Given the description of an element on the screen output the (x, y) to click on. 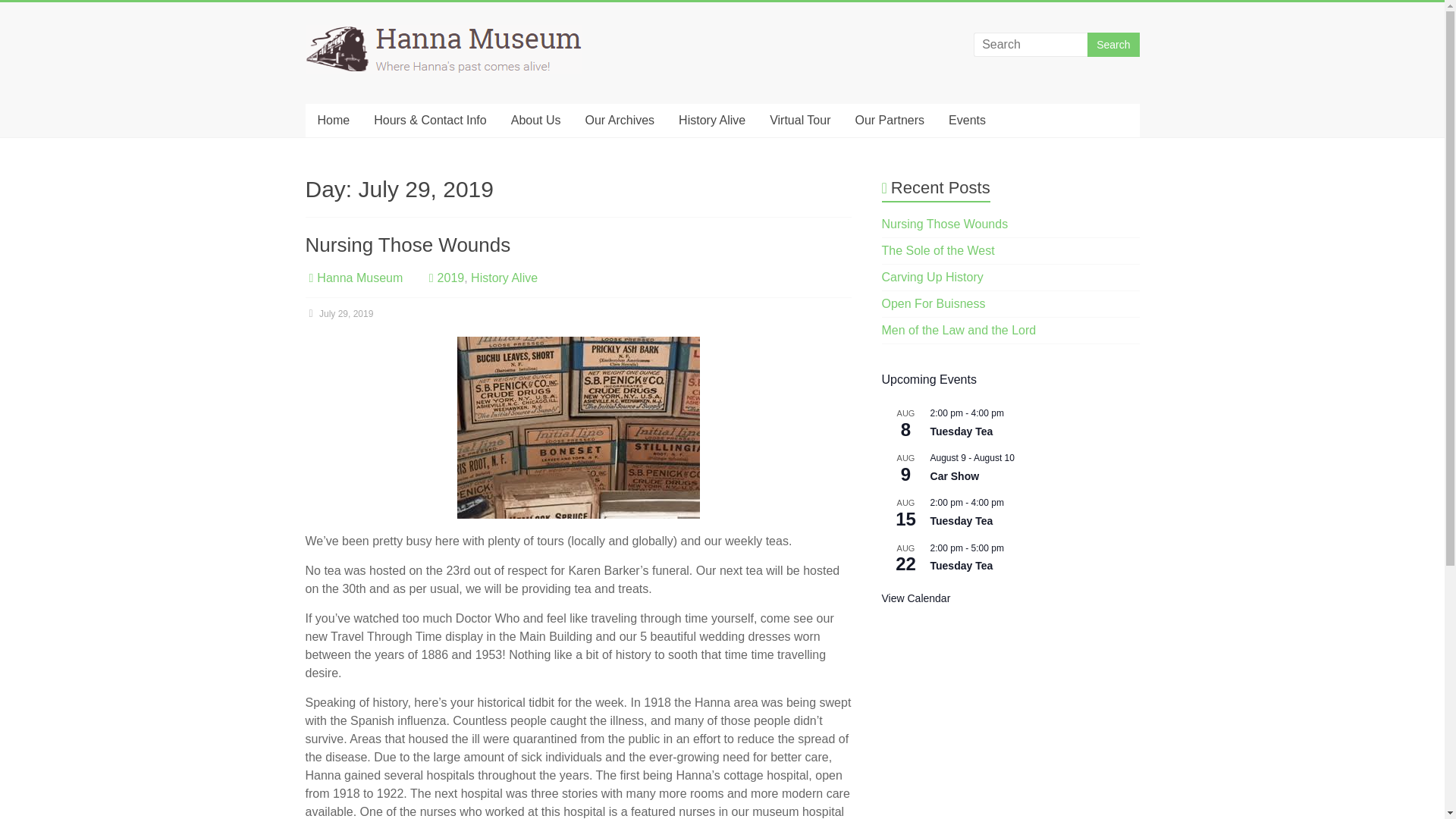
View more events. (916, 598)
History Alive (711, 120)
Car Show (954, 476)
Tuesday Tea (961, 431)
Events (966, 120)
Hanna Museum (356, 59)
Nursing Those Wounds (407, 244)
Tuesday Tea (961, 565)
3:31 pm (338, 313)
Search (1112, 44)
